Given the description of an element on the screen output the (x, y) to click on. 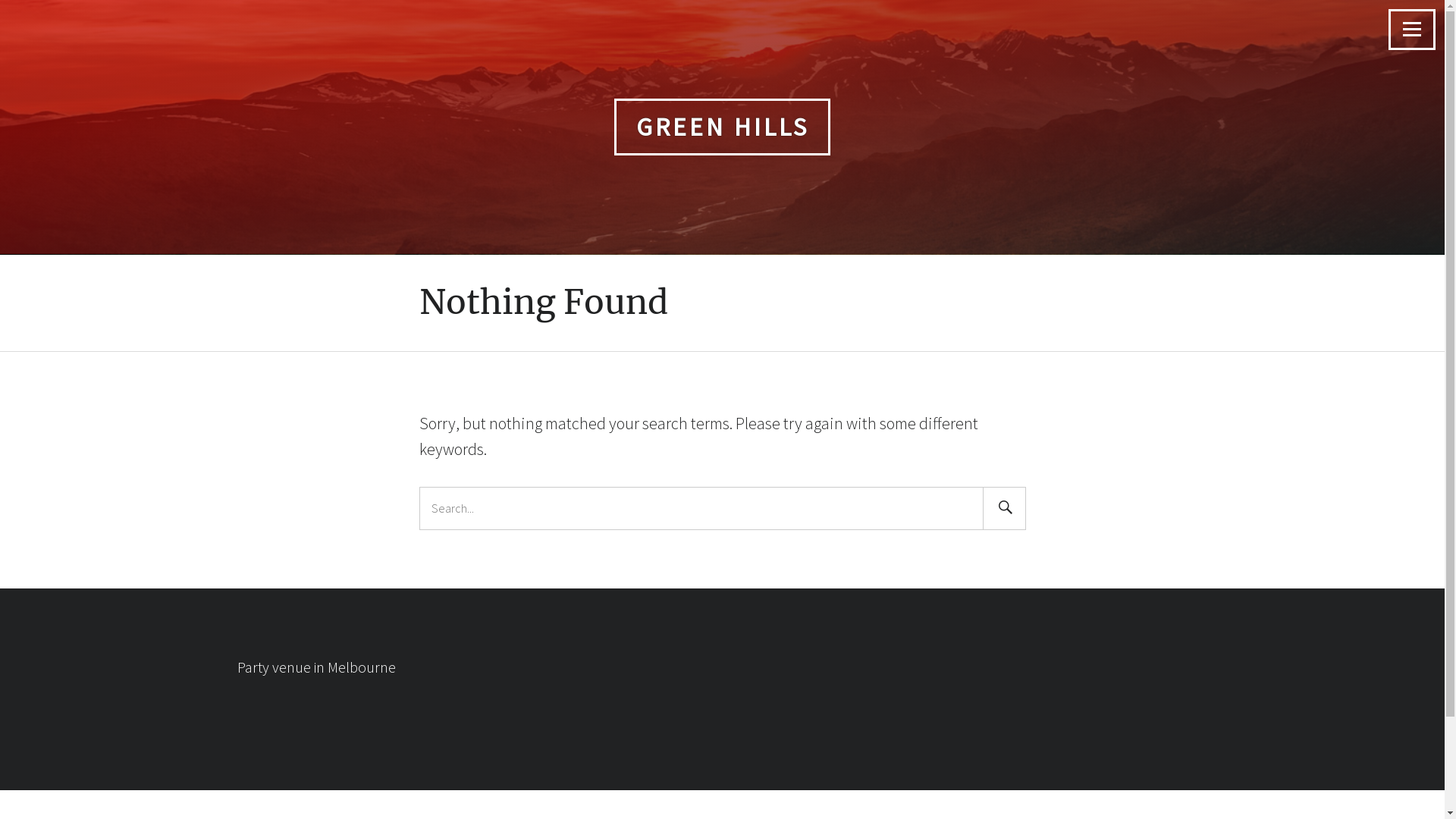
GREEN HILLS Element type: text (721, 126)
Search for: Element type: hover (704, 507)
Search Submit Element type: text (1003, 508)
Menu Element type: text (1411, 29)
Party venue in Melbourne Element type: text (315, 666)
